Given the description of an element on the screen output the (x, y) to click on. 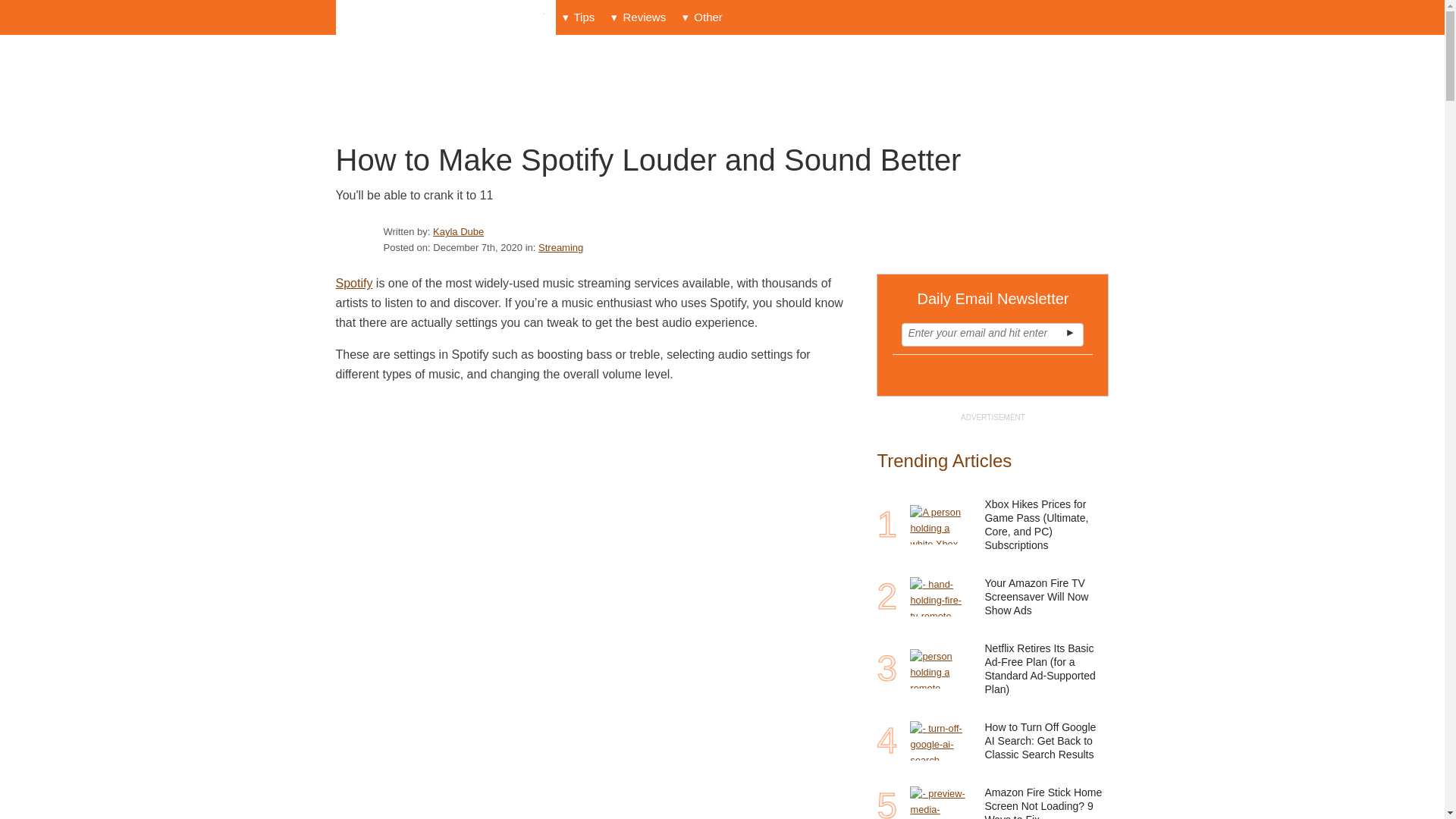
Monday, December 7, 2020, 6:00 am (477, 247)
Online Tech Tips (445, 17)
Your Amazon Fire TV Screensaver Will Now Show Ads (940, 596)
Your Amazon Fire TV Screensaver Will Now Show Ads (1044, 596)
Reviews (638, 17)
Tips (577, 17)
Online Tech Tips (445, 17)
Other (702, 17)
